Given the description of an element on the screen output the (x, y) to click on. 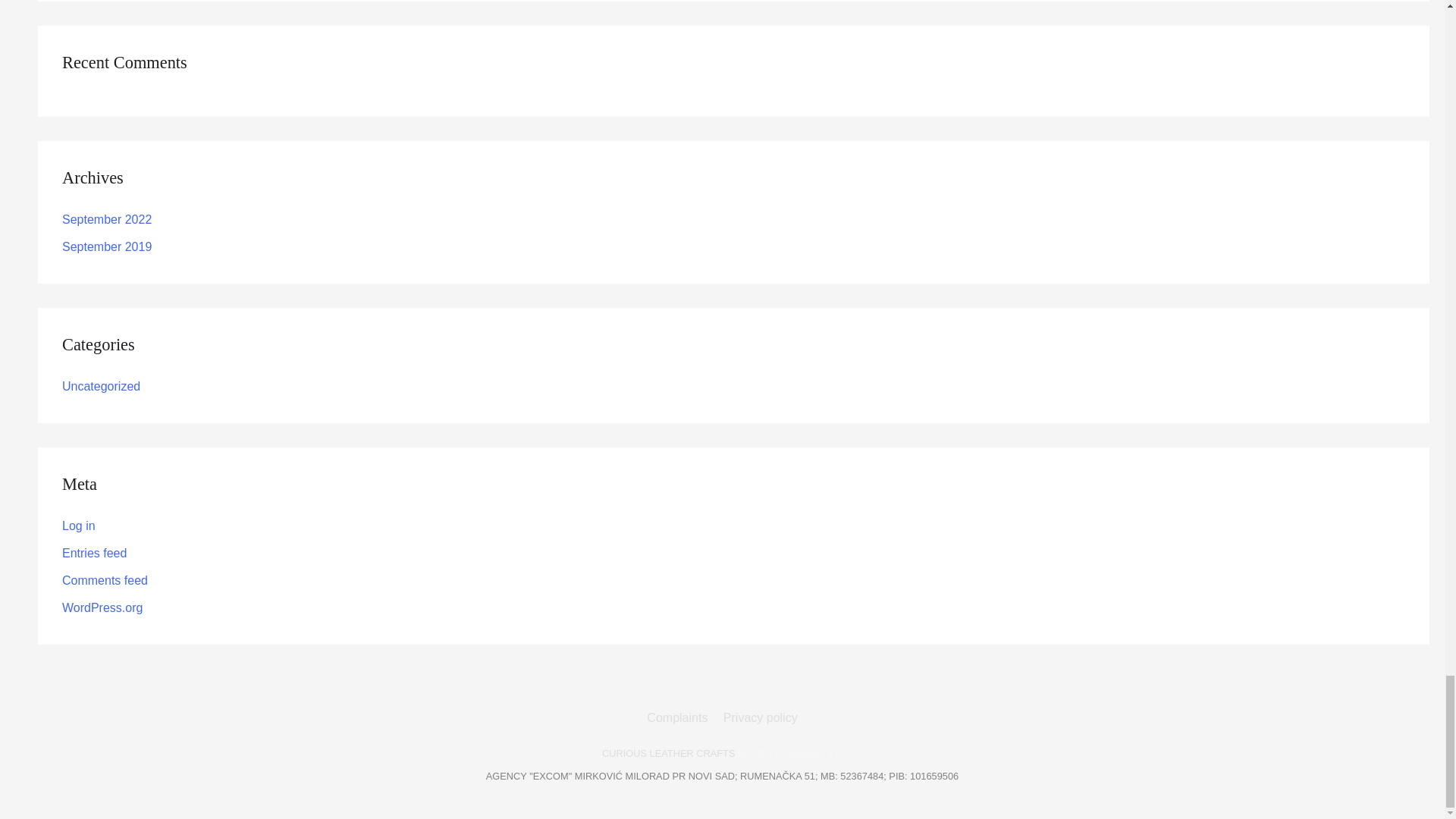
Privacy policy (757, 717)
Comments feed (105, 580)
Complaints (679, 717)
September 2022 (106, 219)
WordPress.org (102, 607)
Entries feed (94, 553)
Uncategorized (100, 386)
Log in (79, 525)
CURIOUS LEATHER CRAFTS (668, 753)
September 2019 (106, 246)
